Given the description of an element on the screen output the (x, y) to click on. 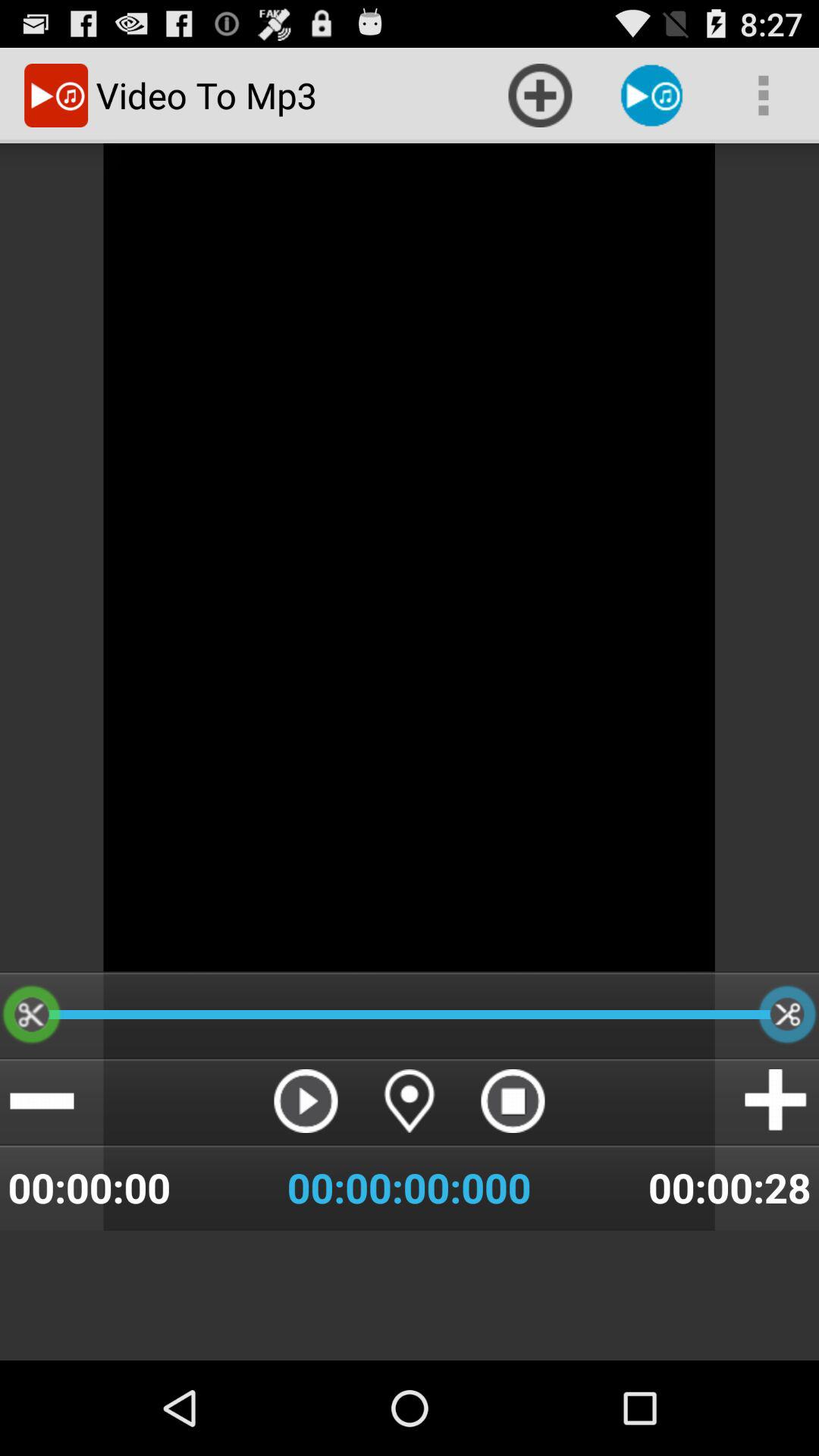
turn off the item at the top (540, 95)
